Given the description of an element on the screen output the (x, y) to click on. 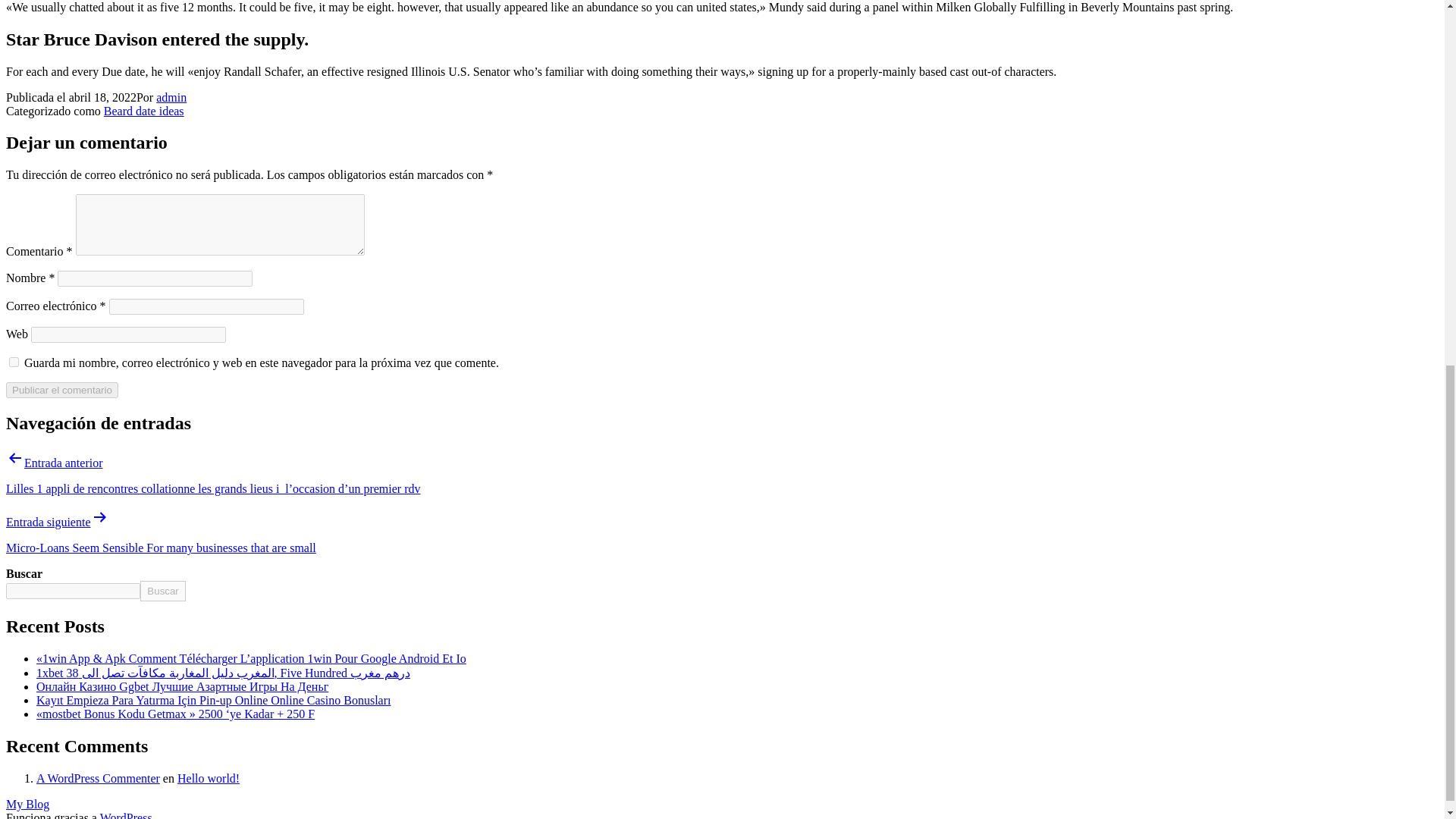
My Blog (27, 803)
yes (13, 361)
admin (170, 96)
Publicar el comentario (61, 390)
Buscar (162, 590)
Hello world! (208, 778)
A WordPress Commenter (98, 778)
Beard date ideas (143, 110)
Publicar el comentario (61, 390)
